Given the description of an element on the screen output the (x, y) to click on. 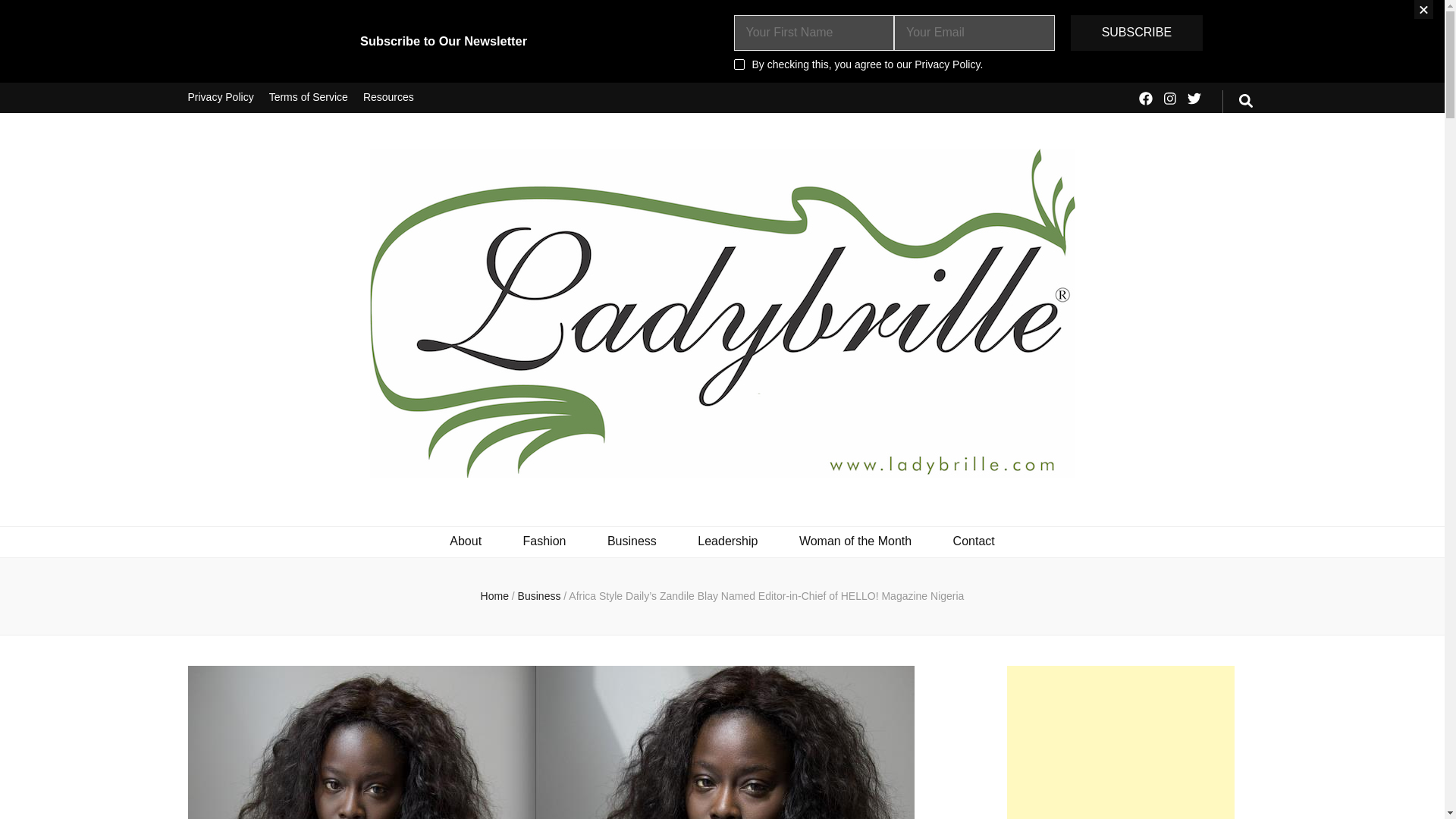
Terms of Service (308, 97)
Advertisement (1120, 742)
About (465, 541)
Subscribe (1136, 32)
Leadership (727, 541)
Home (494, 595)
Fashion (544, 541)
Woman of the Month (855, 541)
Resources (387, 97)
Contact (973, 541)
